Given the description of an element on the screen output the (x, y) to click on. 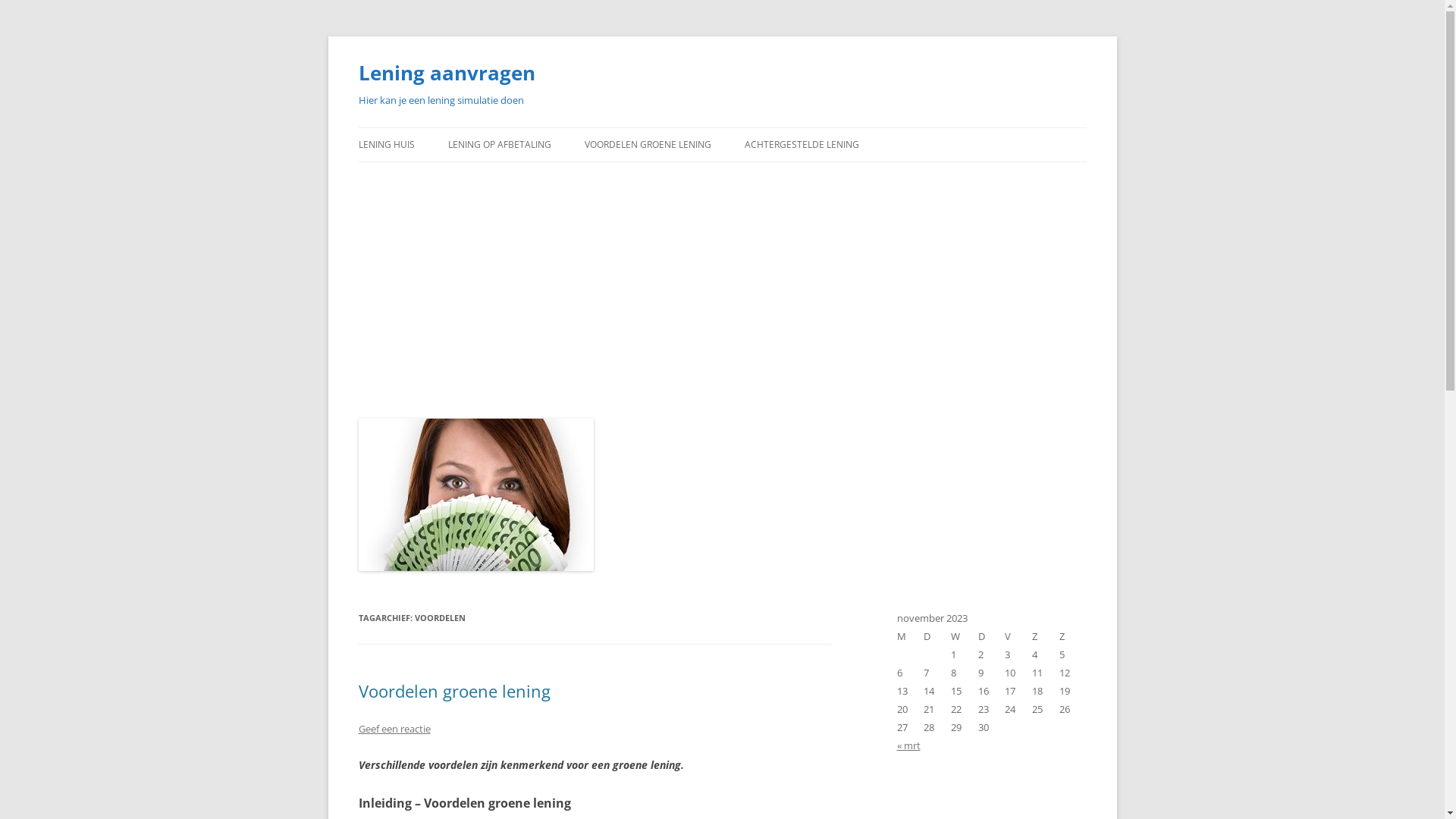
Spring naar inhoud Element type: text (721, 127)
Advertisement Element type: hover (721, 286)
Voordelen groene lening Element type: text (453, 690)
LENING OP AFBETALING Element type: text (498, 144)
LENING HUIS Element type: text (385, 144)
Lening aanvragen Element type: text (445, 72)
Geef een reactie Element type: text (393, 728)
ACHTERGESTELDE LENING Element type: text (801, 144)
VOORDELEN GROENE LENING Element type: text (646, 144)
